Given the description of an element on the screen output the (x, y) to click on. 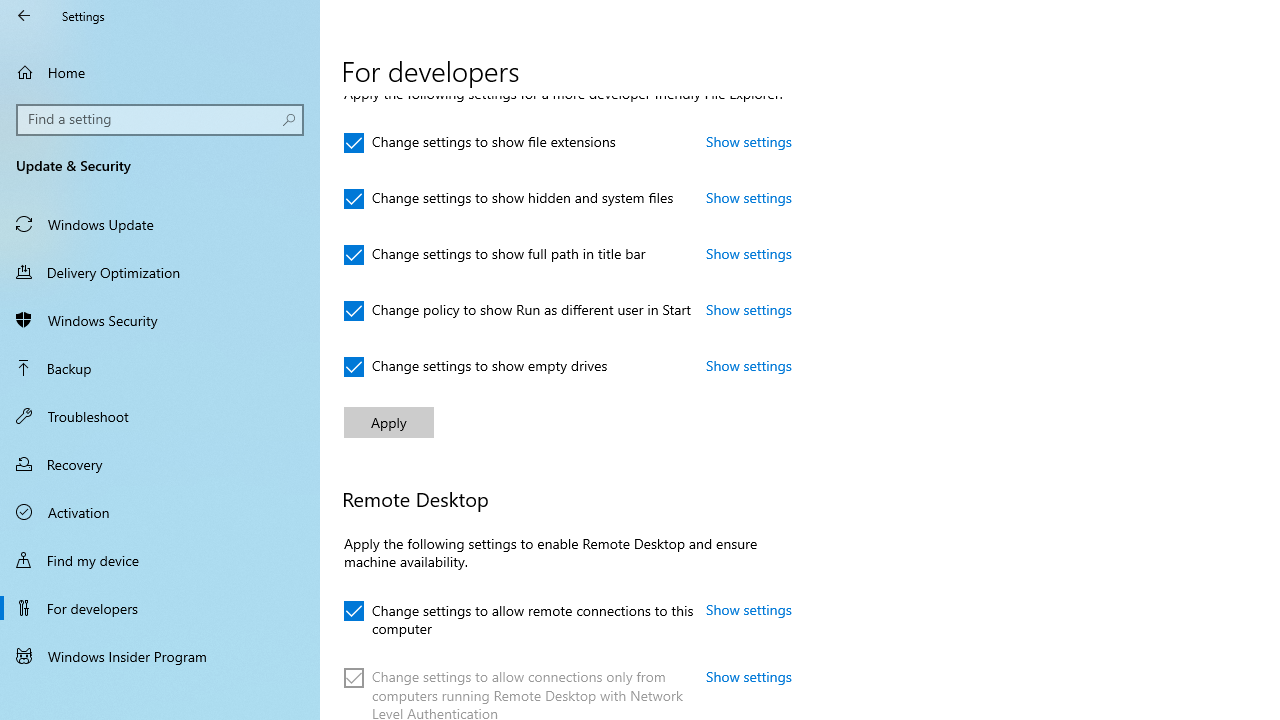
Windows Update (160, 223)
Change settings to show full path in title bar (495, 254)
Change settings to show file extensions (479, 142)
Back (24, 15)
Windows Insider Program (160, 655)
Show settings: Change settings to show empty drives (749, 365)
Recovery (160, 463)
Search box, Find a setting (160, 119)
Backup (160, 367)
Apply (388, 421)
Show settings: Change settings to show file extensions (749, 141)
Change settings to allow remote connections to this computer (518, 615)
